Given the description of an element on the screen output the (x, y) to click on. 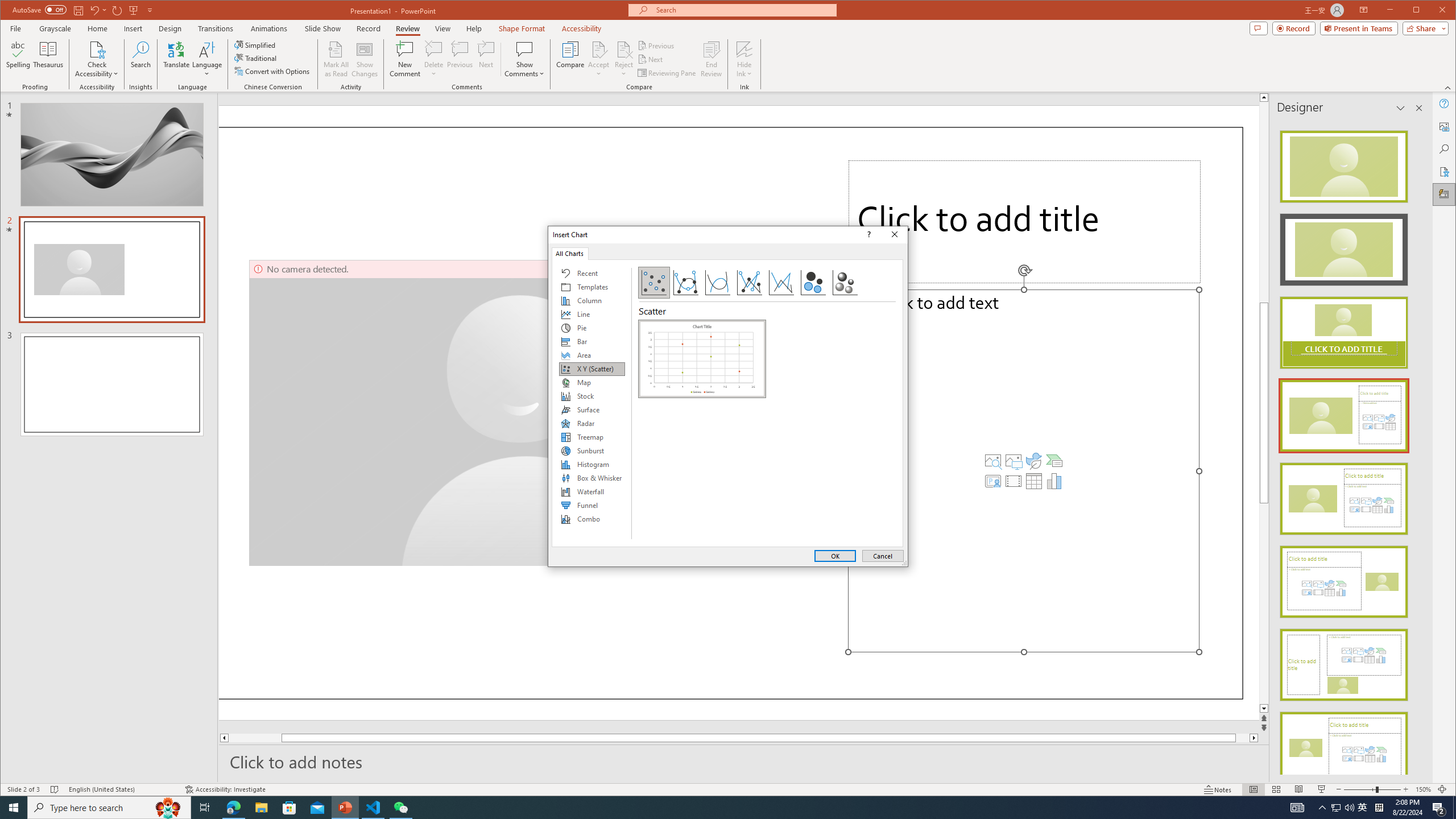
X Y (Scatter) (591, 368)
Microsoft search (742, 10)
Type here to search (108, 807)
Scatter with Smooth Lines (717, 282)
Insert a SmartArt Graphic (1053, 460)
Delete (433, 48)
Search highlights icon opens search home window (167, 807)
Traditional (256, 57)
Mark All as Read (335, 59)
User Promoted Notification Area (1342, 807)
